Given the description of an element on the screen output the (x, y) to click on. 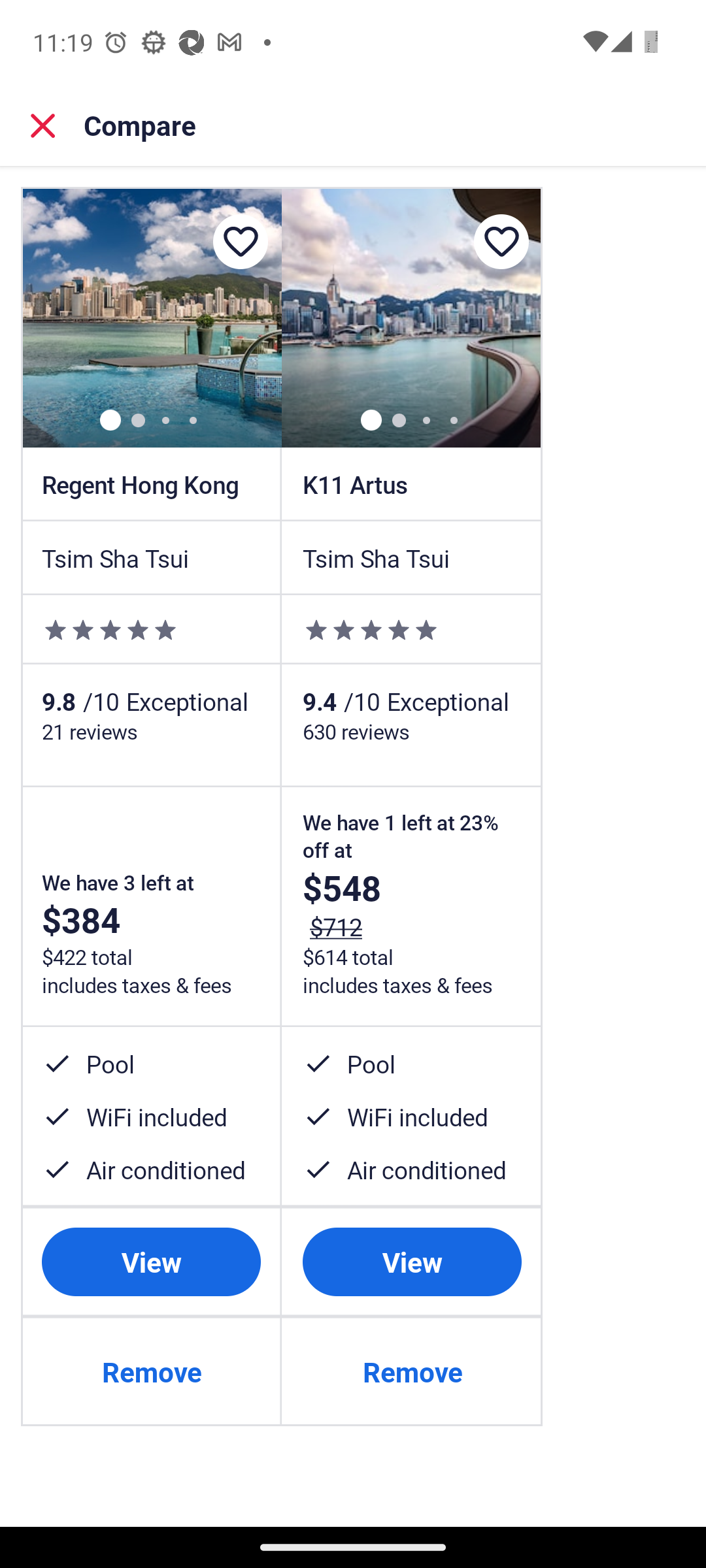
Close, back to property search. (43, 125)
Save Regent Hong Kong to a trip (240, 241)
Save K11 Artus to a trip (501, 241)
